Given the description of an element on the screen output the (x, y) to click on. 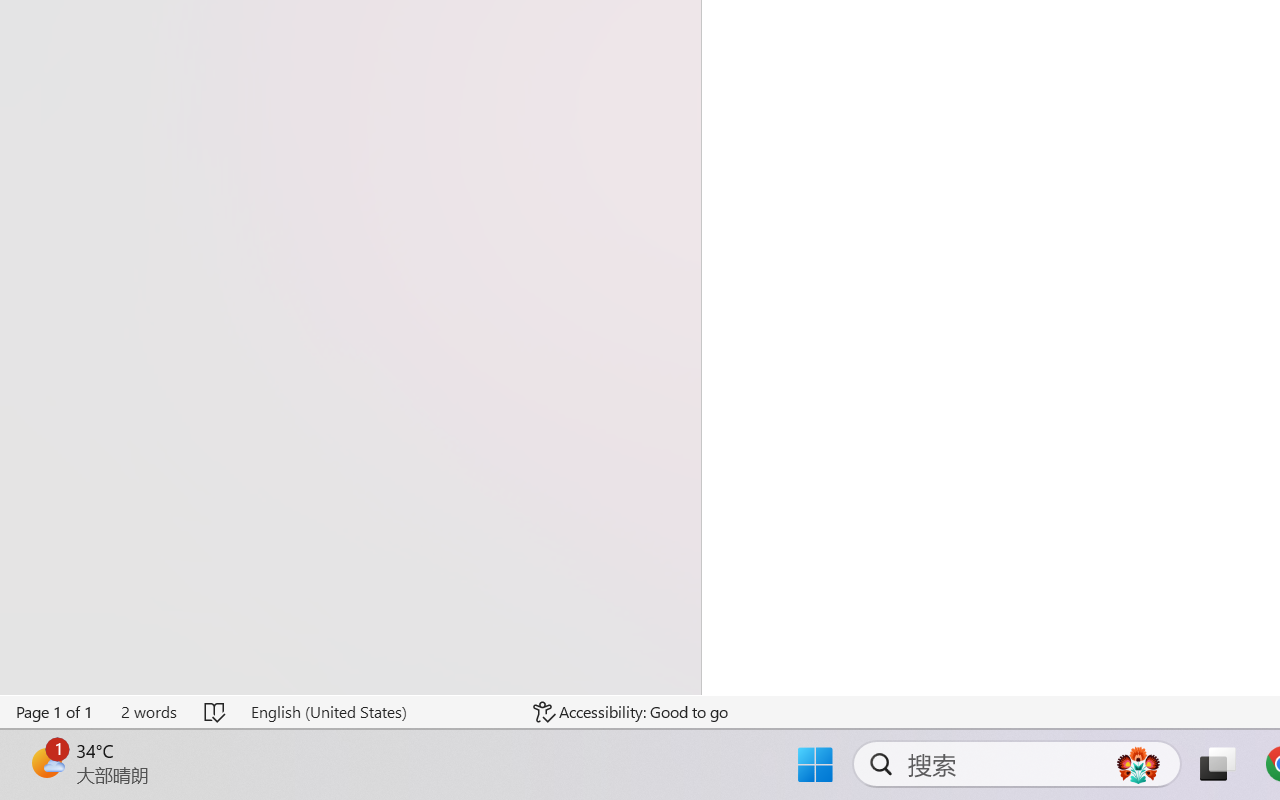
Page Number Page 1 of 1 (55, 712)
